Given the description of an element on the screen output the (x, y) to click on. 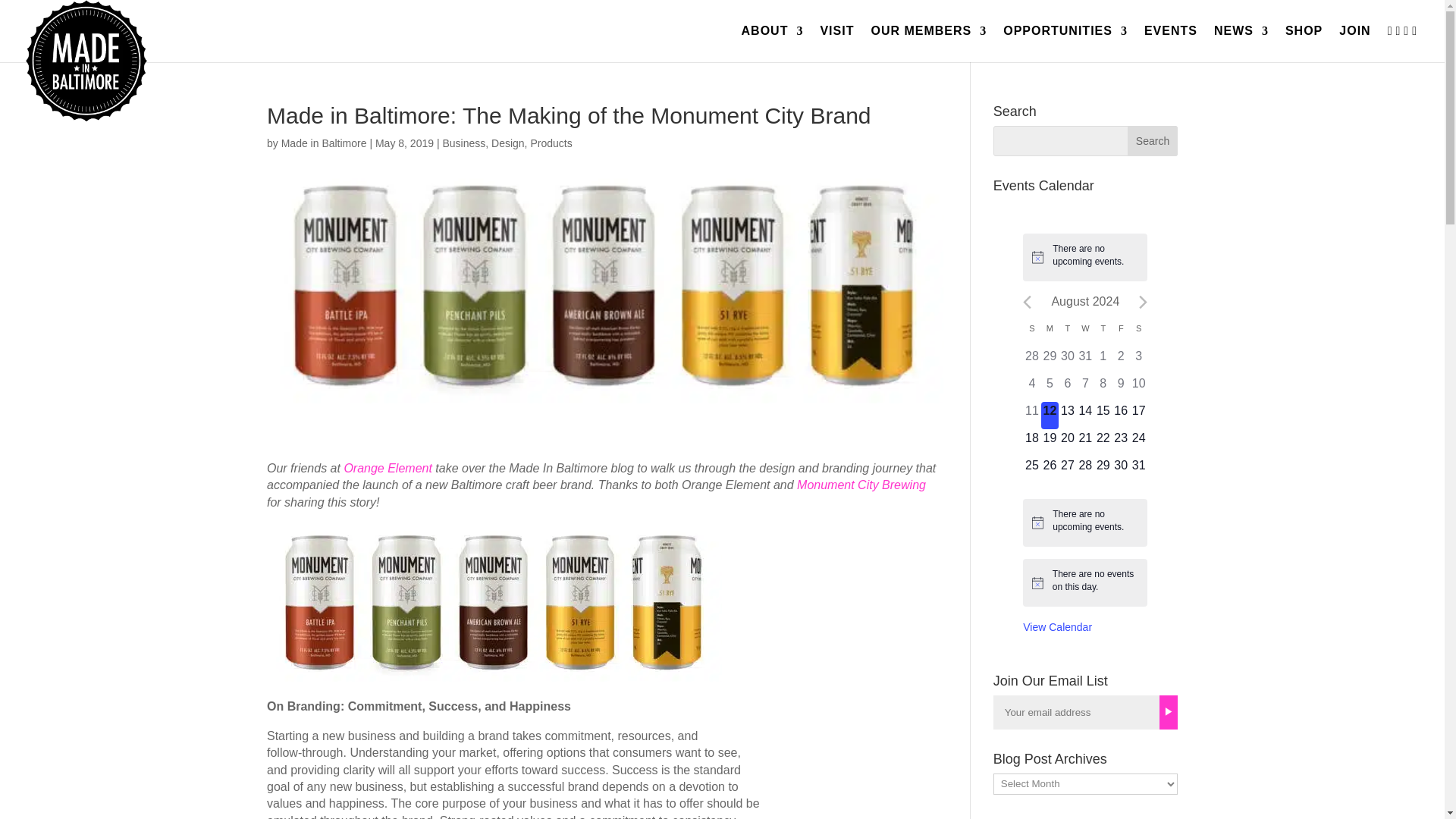
Posts by Made in Baltimore (323, 143)
Design (508, 143)
Products (550, 143)
Search (1151, 141)
Search (1151, 141)
EVENTS (1170, 43)
Orange Element (387, 468)
NEWS (1241, 43)
Monument City Brewing (861, 484)
Business (463, 143)
